Given the description of an element on the screen output the (x, y) to click on. 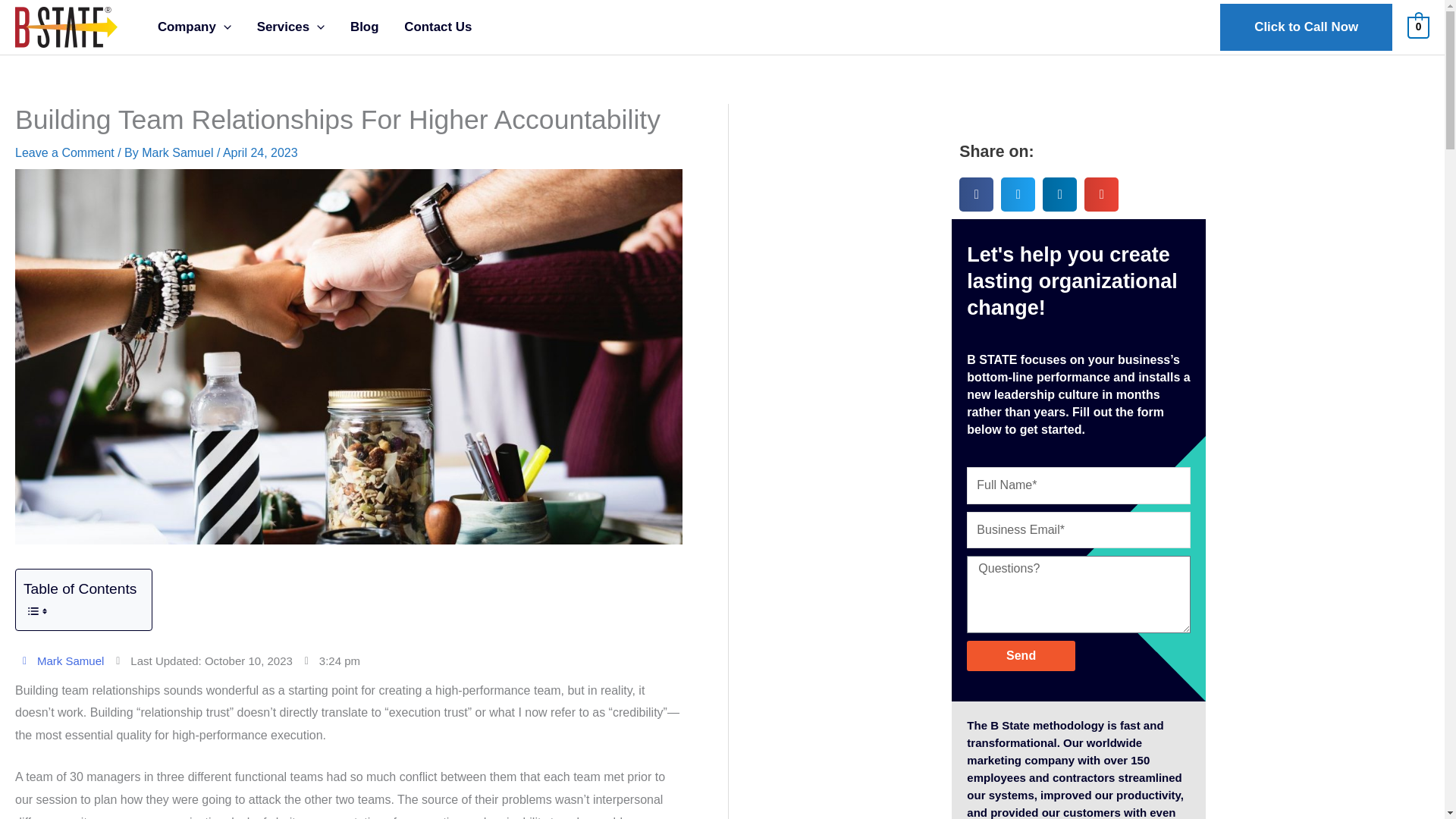
Contact Us (437, 27)
0 (1418, 26)
Click to Call Now (1305, 26)
View all posts by Mark Samuel (178, 152)
Services (290, 27)
Company (194, 27)
Blog (364, 27)
